Given the description of an element on the screen output the (x, y) to click on. 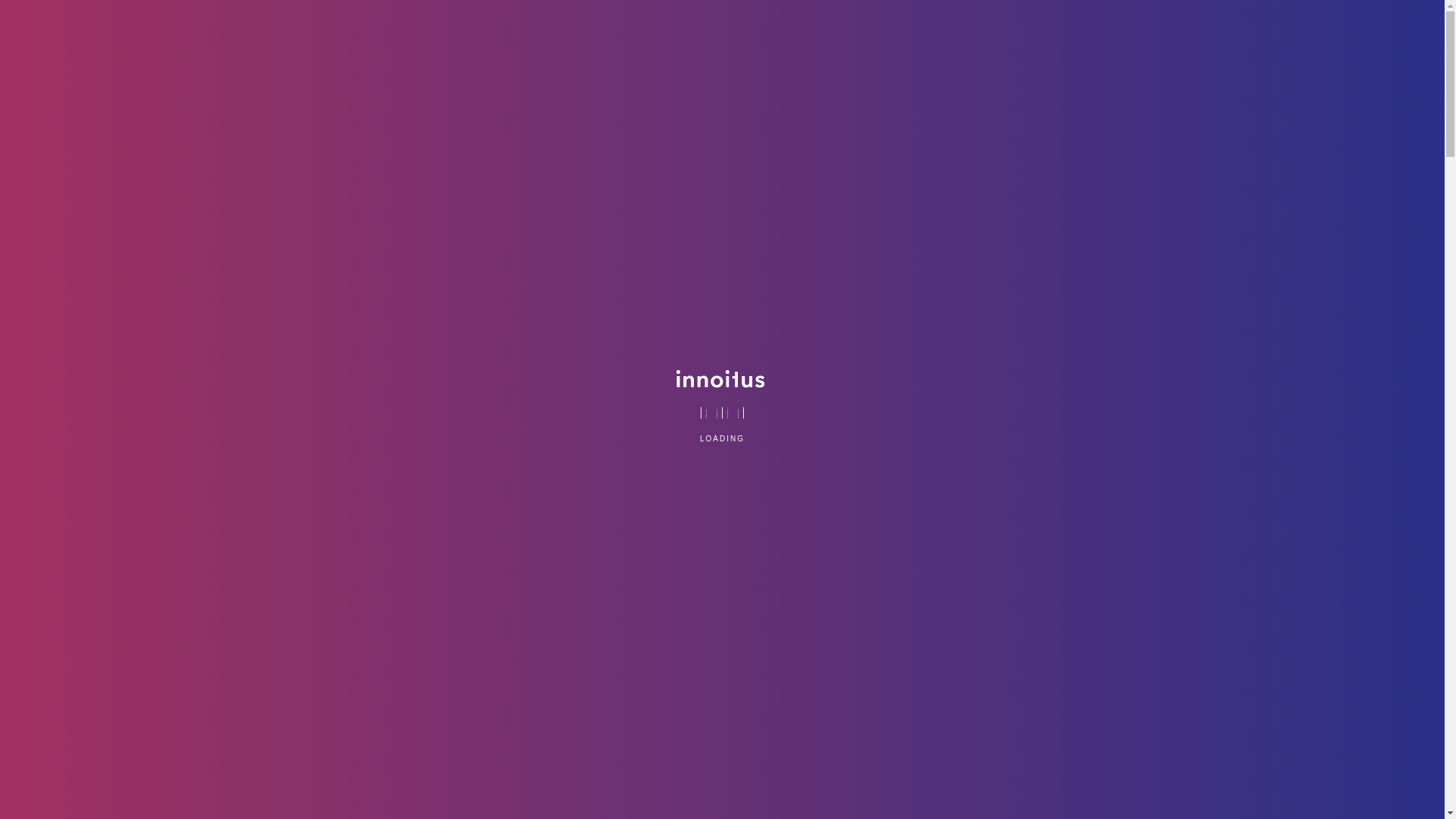
ABOUT Element type: text (1191, 34)
HUMAN CAPITAL Element type: text (1035, 34)
CAREERS Element type: text (1127, 34)
HOME Element type: text (755, 34)
SERVICE MANAGEMENT Element type: text (911, 34)
CLOUD Element type: text (812, 34)
CONTACT US Element type: text (1263, 34)
